Given the description of an element on the screen output the (x, y) to click on. 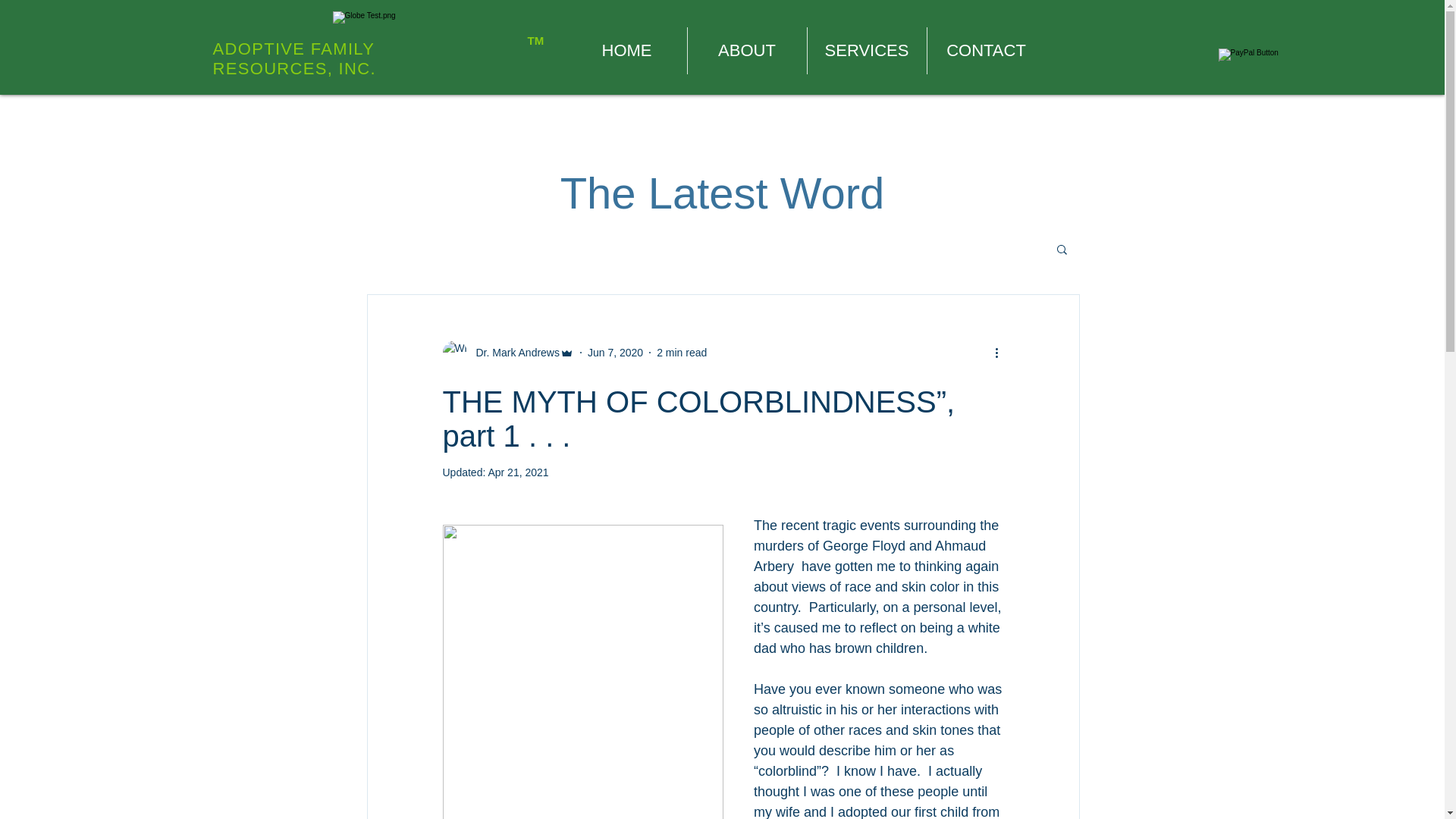
CONTACT (985, 50)
ADOPTIVE FAMILY                RESOURCES, INC.      (335, 58)
Dr. Mark Andrews (507, 352)
Apr 21, 2021 (517, 472)
2 min read (681, 351)
Dr. Mark Andrews (513, 351)
Jun 7, 2020 (615, 351)
SERVICES (866, 50)
ABOUT (746, 50)
HOME (627, 50)
